Given the description of an element on the screen output the (x, y) to click on. 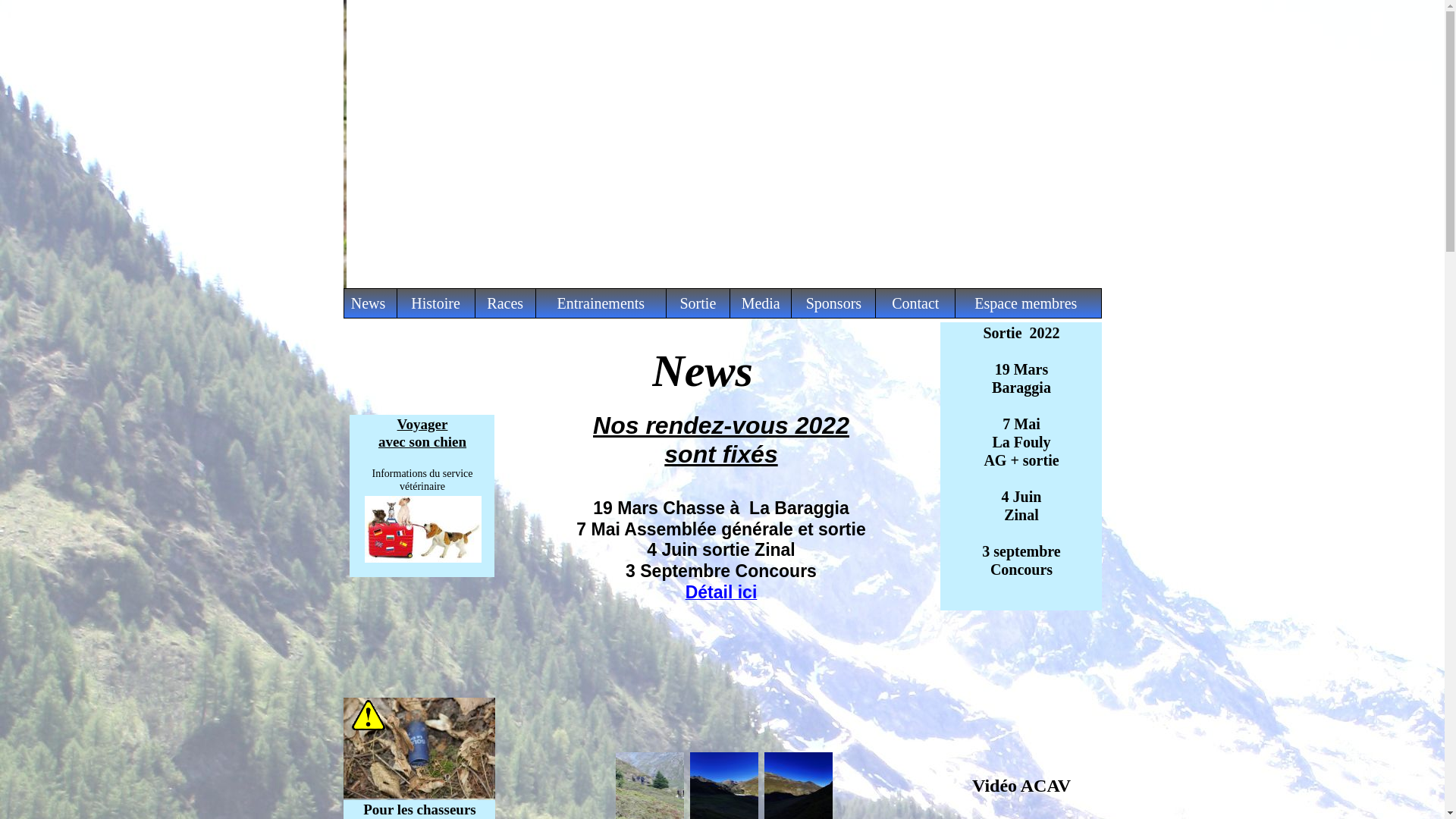
Races Element type: text (504, 302)
Histoire Element type: text (435, 302)
Sponsors Element type: text (833, 302)
Contact Element type: text (914, 302)
  Element type: text (343, 6)
Espace membres Element type: text (1025, 302)
Entrainements Element type: text (601, 302)
Media Element type: text (760, 302)
News  Element type: text (370, 302)
cliquer pour les informations Element type: hover (422, 528)
Sortie Element type: text (697, 302)
News  Element type: text (370, 302)
Sponsors Element type: text (833, 302)
Entrainements Element type: text (601, 302)
